Given the description of an element on the screen output the (x, y) to click on. 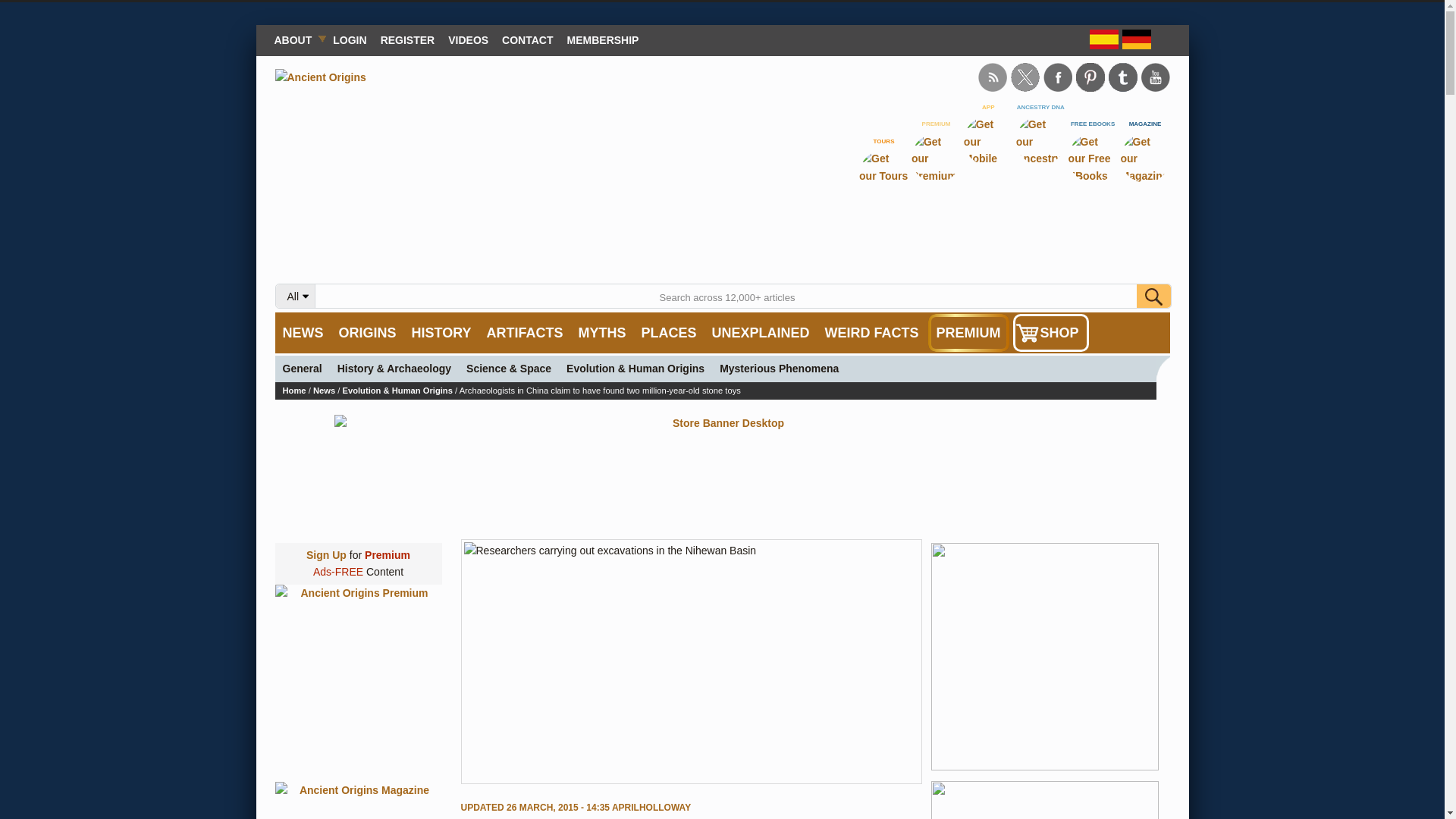
Video Gallery (468, 40)
REGISTER (408, 40)
Our Mission (296, 40)
LOGIN (349, 40)
MEMBERSHIP (603, 40)
CONTACT (526, 40)
VIDEOS (468, 40)
ABOUT (296, 40)
Find (1152, 295)
